Given the description of an element on the screen output the (x, y) to click on. 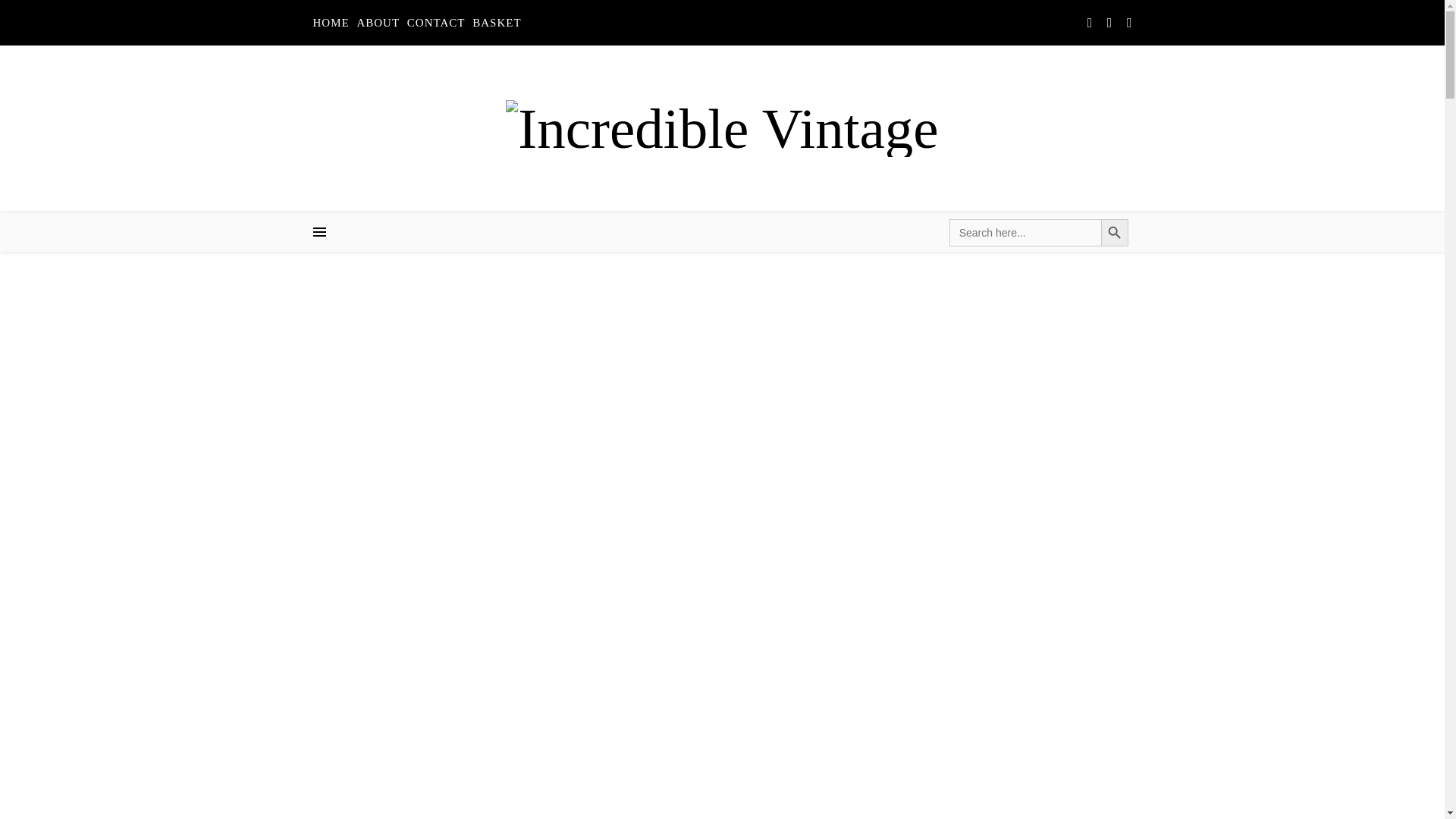
Search Button (1114, 232)
CONTACT (435, 22)
ABOUT (377, 22)
BASKET (495, 22)
Incredible Vintage (721, 128)
